Given the description of an element on the screen output the (x, y) to click on. 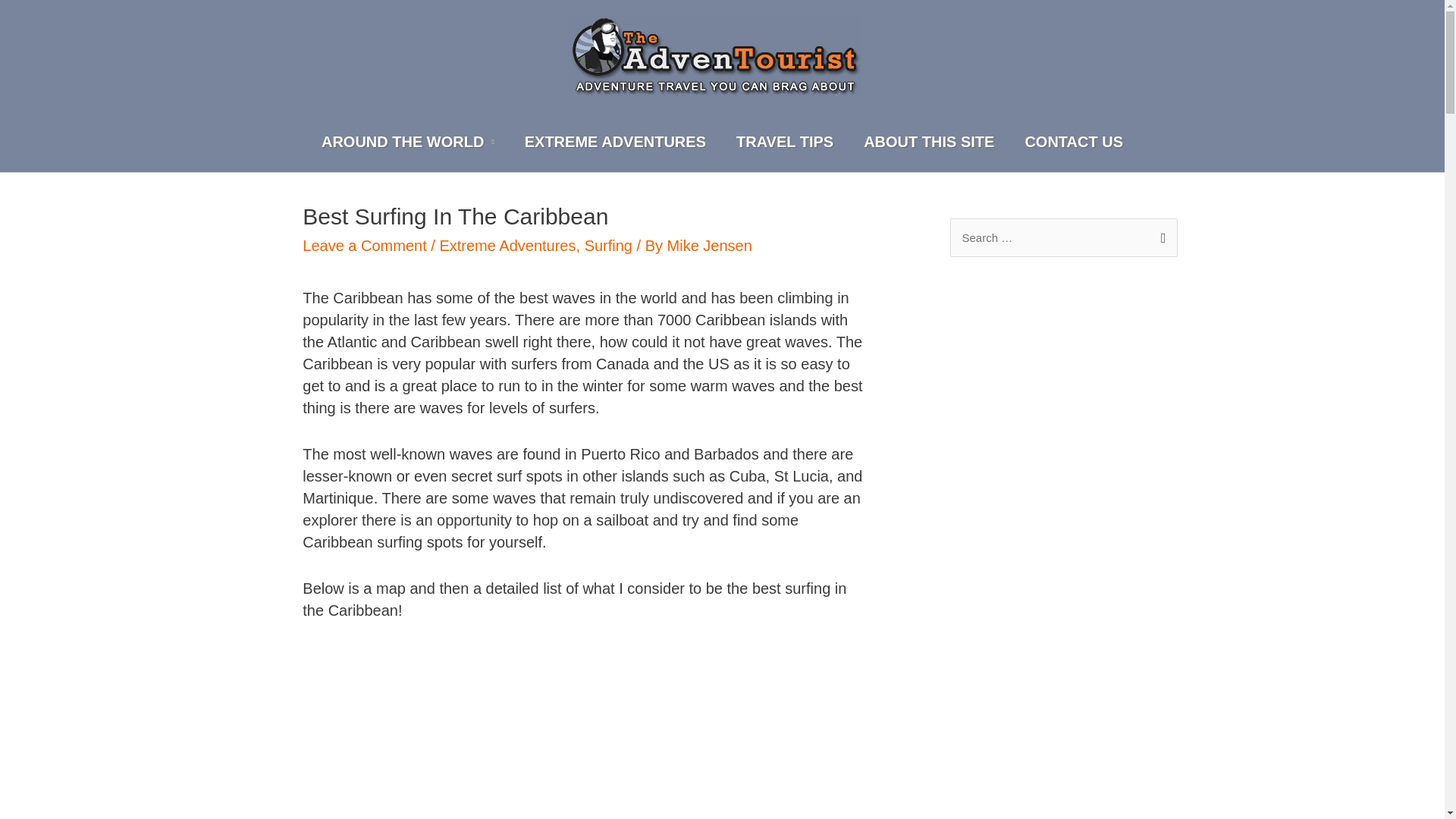
Surfing (608, 245)
TRAVEL TIPS (784, 141)
ABOUT THIS SITE (928, 141)
CONTACT US (1073, 141)
EXTREME ADVENTURES (614, 141)
Mike Jensen (709, 245)
Extreme Adventures (507, 245)
View all posts by Mike Jensen (709, 245)
AROUND THE WORLD (407, 141)
Extreme Adventures (614, 141)
